Given the description of an element on the screen output the (x, y) to click on. 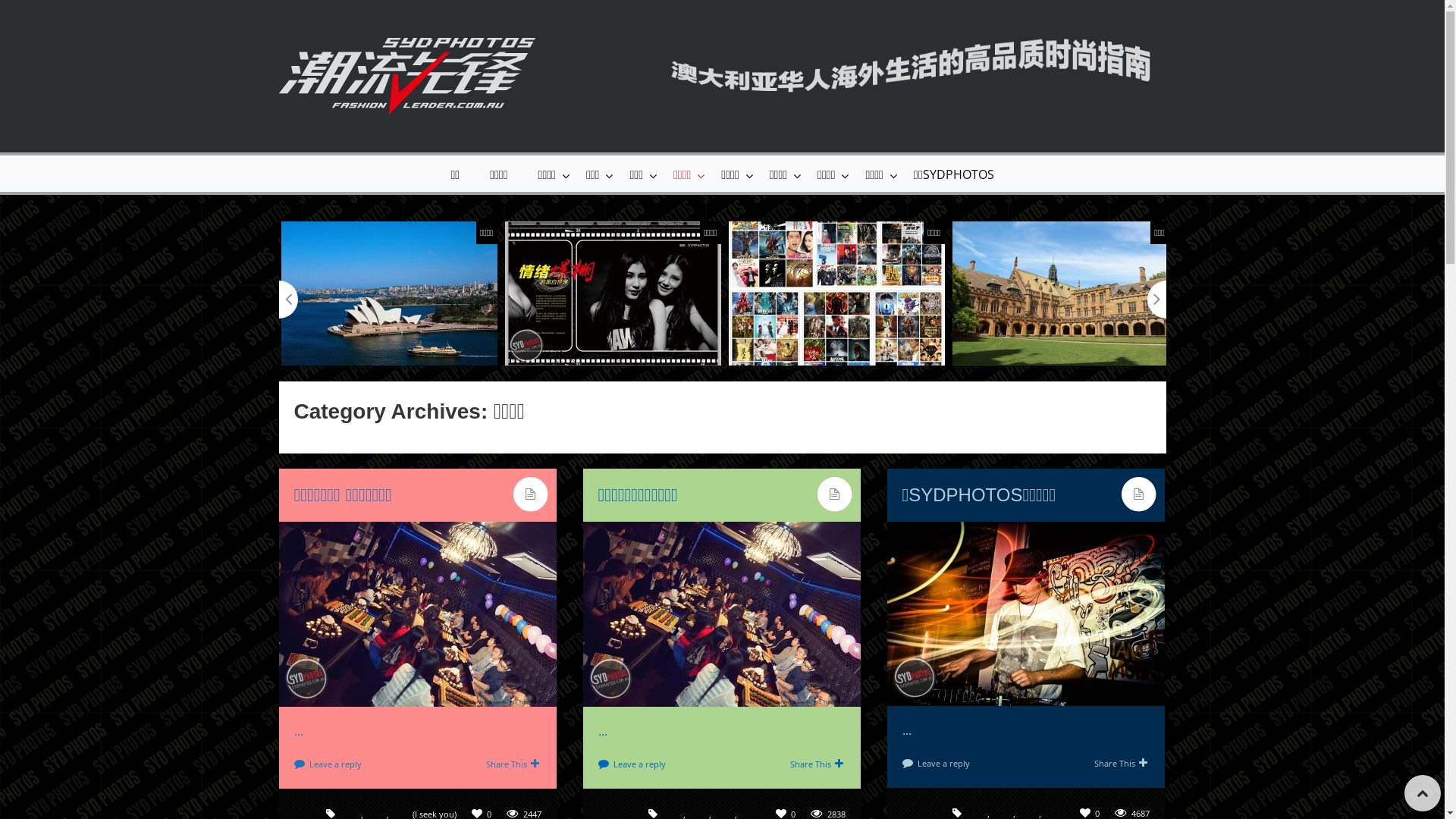
standard Element type: hover (1138, 494)
Leave a reply Element type: text (335, 763)
standard Element type: hover (530, 494)
standard Element type: hover (833, 494)
Leave a reply Element type: text (943, 762)
Leave a reply Element type: text (638, 763)
I like this article Element type: hover (1085, 812)
